Given the description of an element on the screen output the (x, y) to click on. 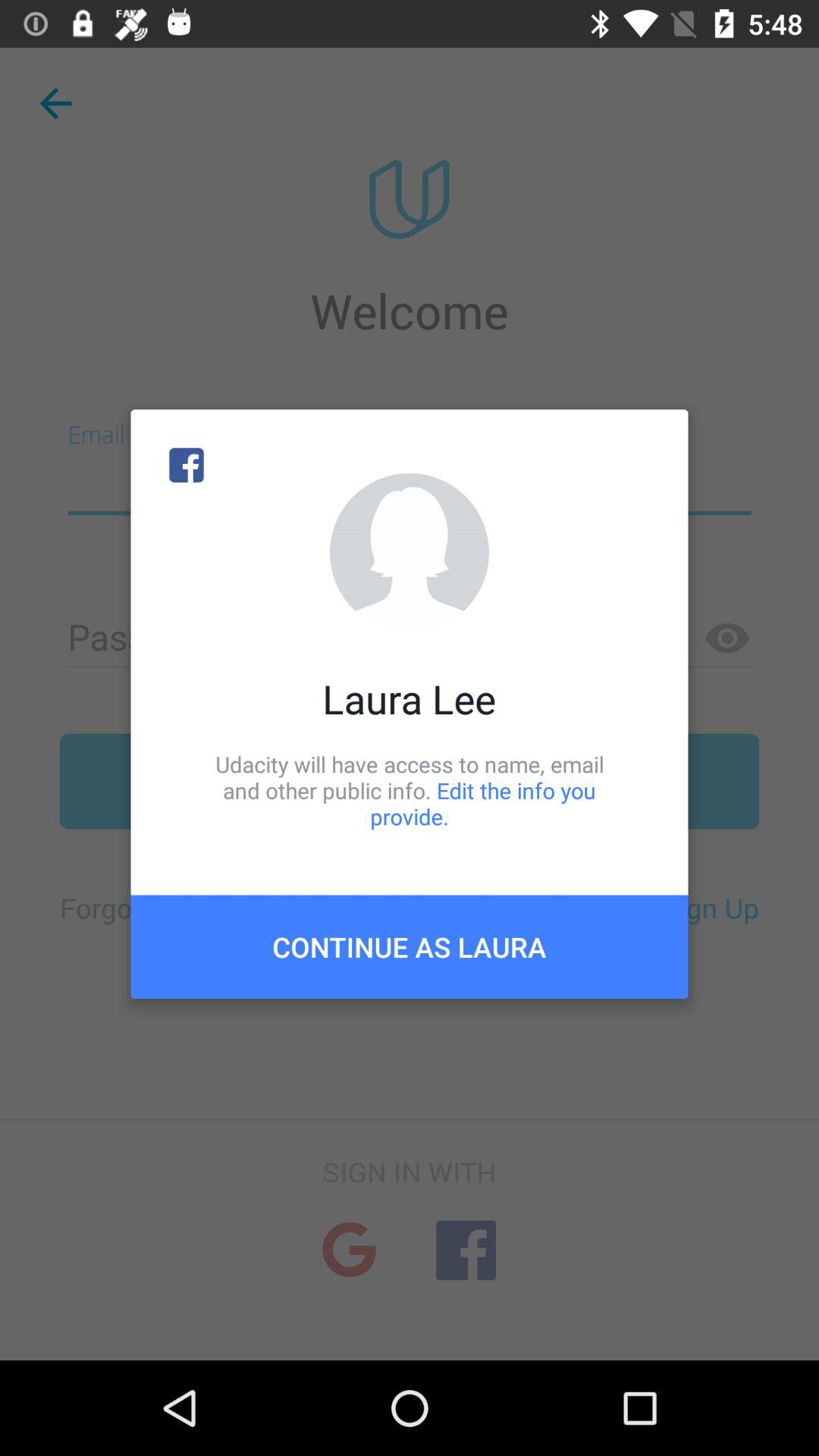
select the item above continue as laura item (409, 790)
